Given the description of an element on the screen output the (x, y) to click on. 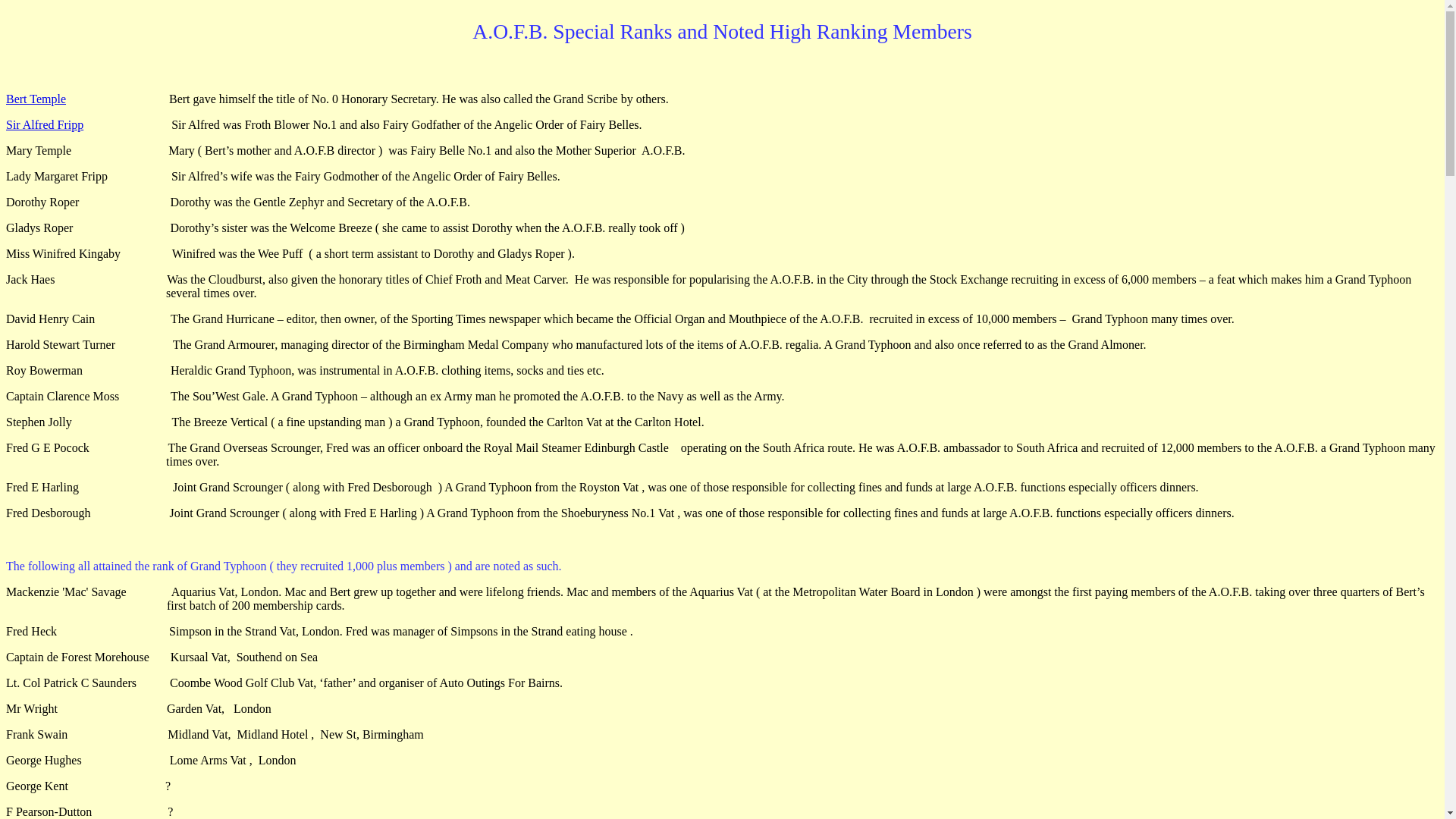
Bert Temple (35, 98)
Sir Alfred Fripp (43, 124)
